Given the description of an element on the screen output the (x, y) to click on. 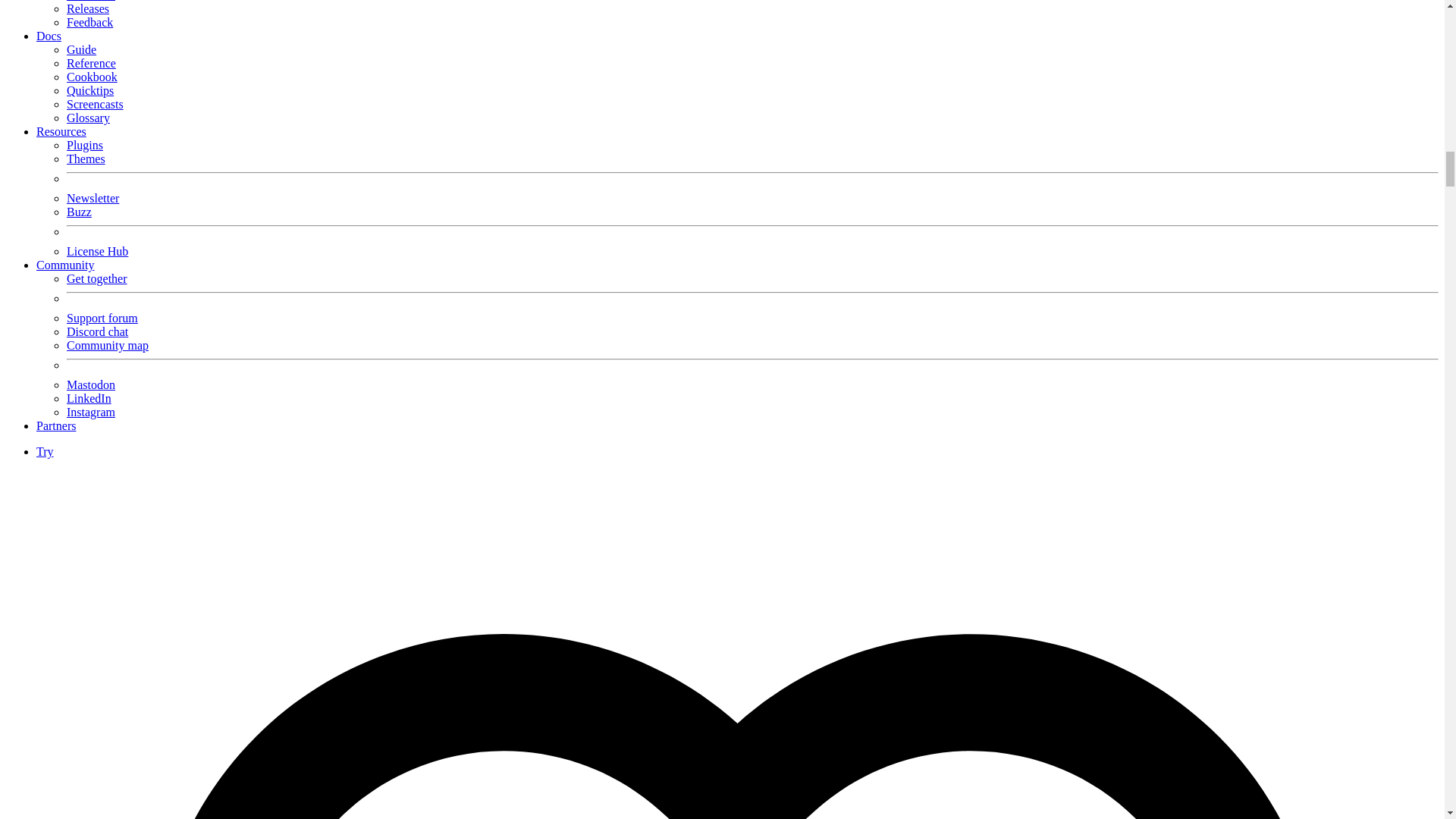
License Hub (97, 250)
Glossary (88, 117)
Showcase (90, 0)
Newsletter (92, 197)
Mastodon (90, 384)
Themes (85, 158)
Community (65, 264)
Support forum (102, 318)
Screencasts (94, 103)
Releases (87, 8)
Cookbook (91, 76)
Discord chat (97, 331)
Quicktips (89, 90)
LinkedIn (89, 398)
Partners (55, 425)
